Given the description of an element on the screen output the (x, y) to click on. 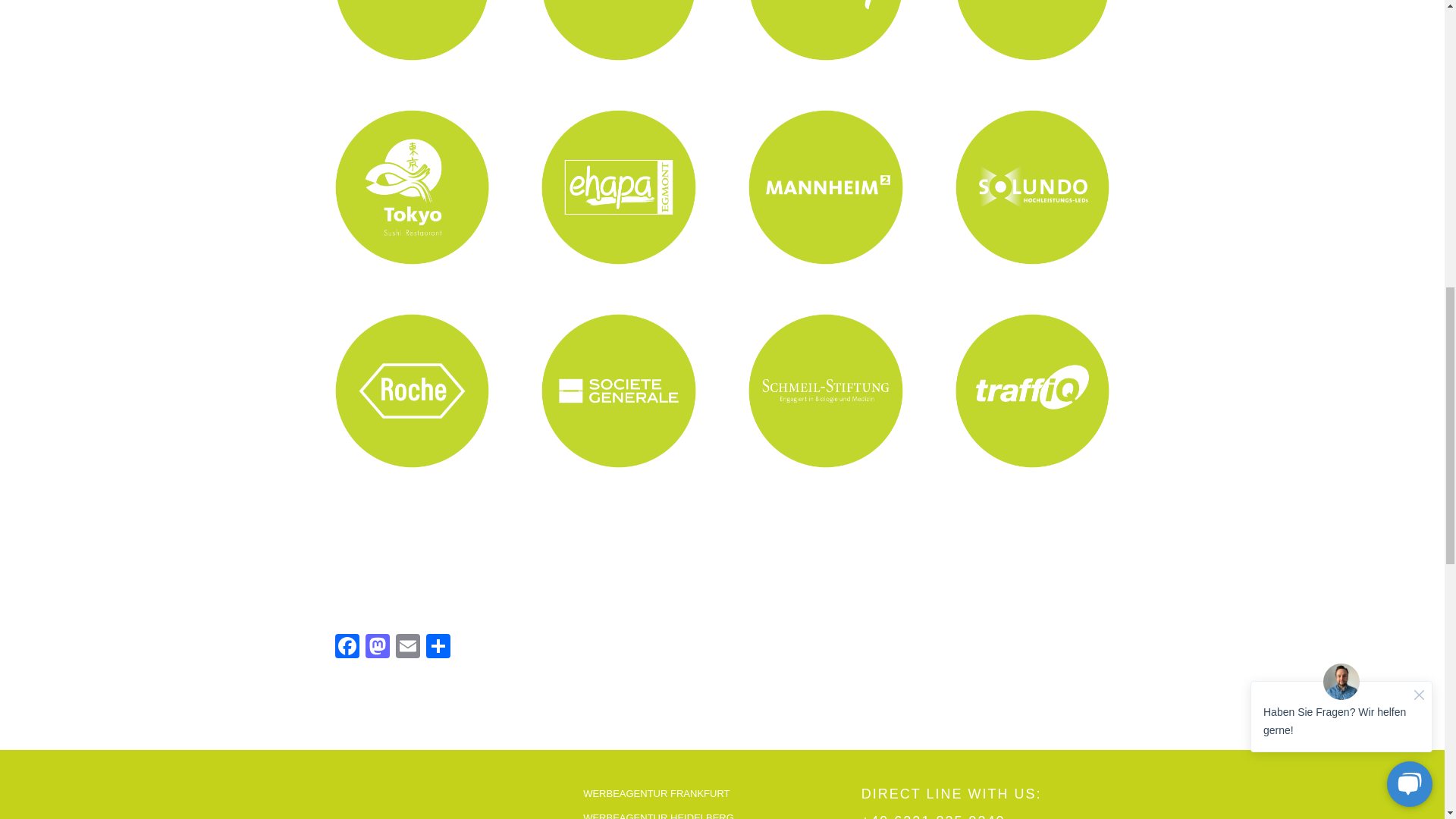
Facebook (346, 647)
Facebook (346, 647)
WERBEAGENTUR FRANKFURT (718, 794)
Mastodon (377, 647)
Mastodon (377, 647)
Email (408, 647)
Email (408, 647)
WERBEAGENTUR HEIDELBERG (718, 812)
